Given the description of an element on the screen output the (x, y) to click on. 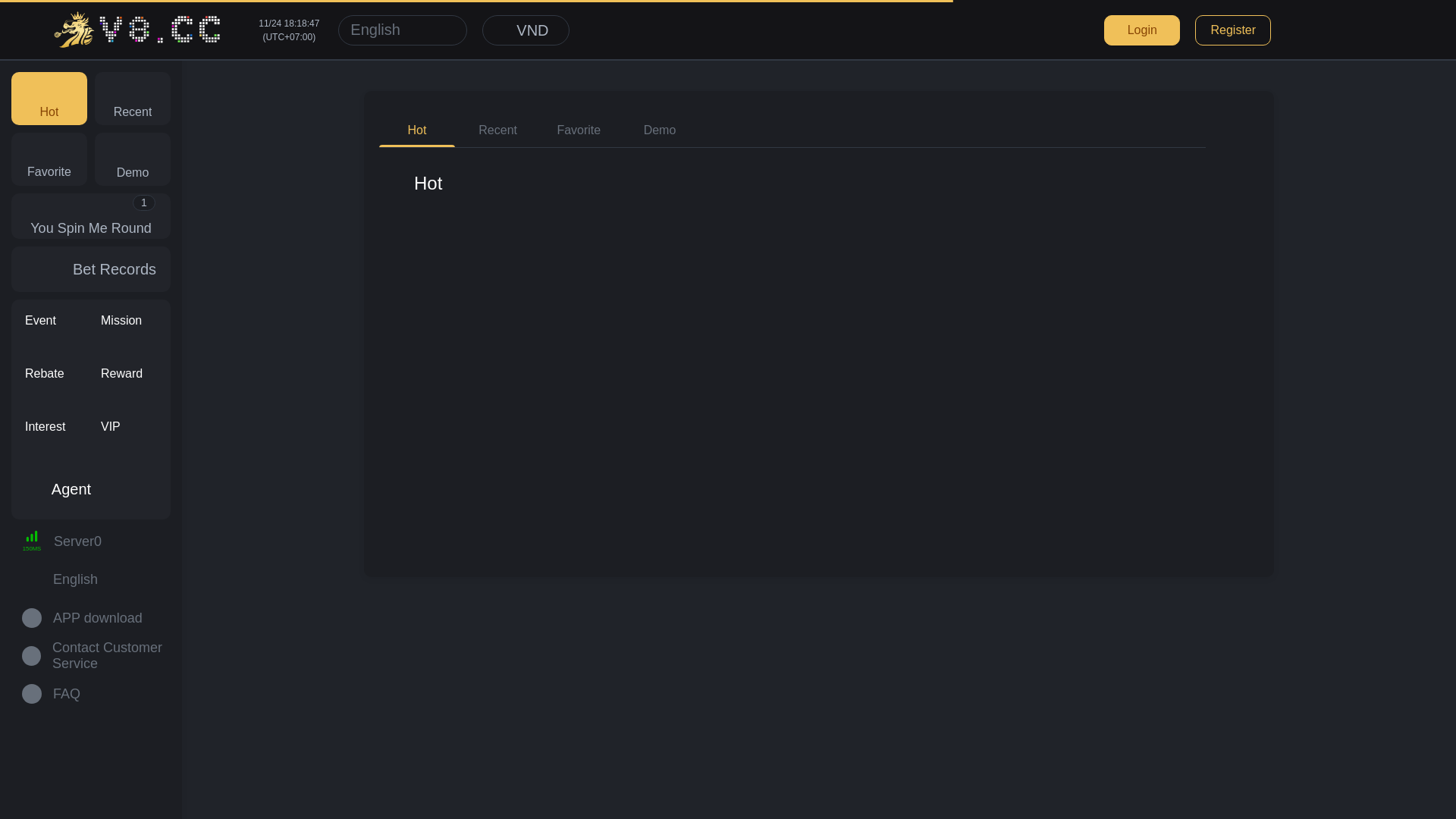
Login Element type: text (1141, 30)
Register Element type: text (1232, 30)
